Given the description of an element on the screen output the (x, y) to click on. 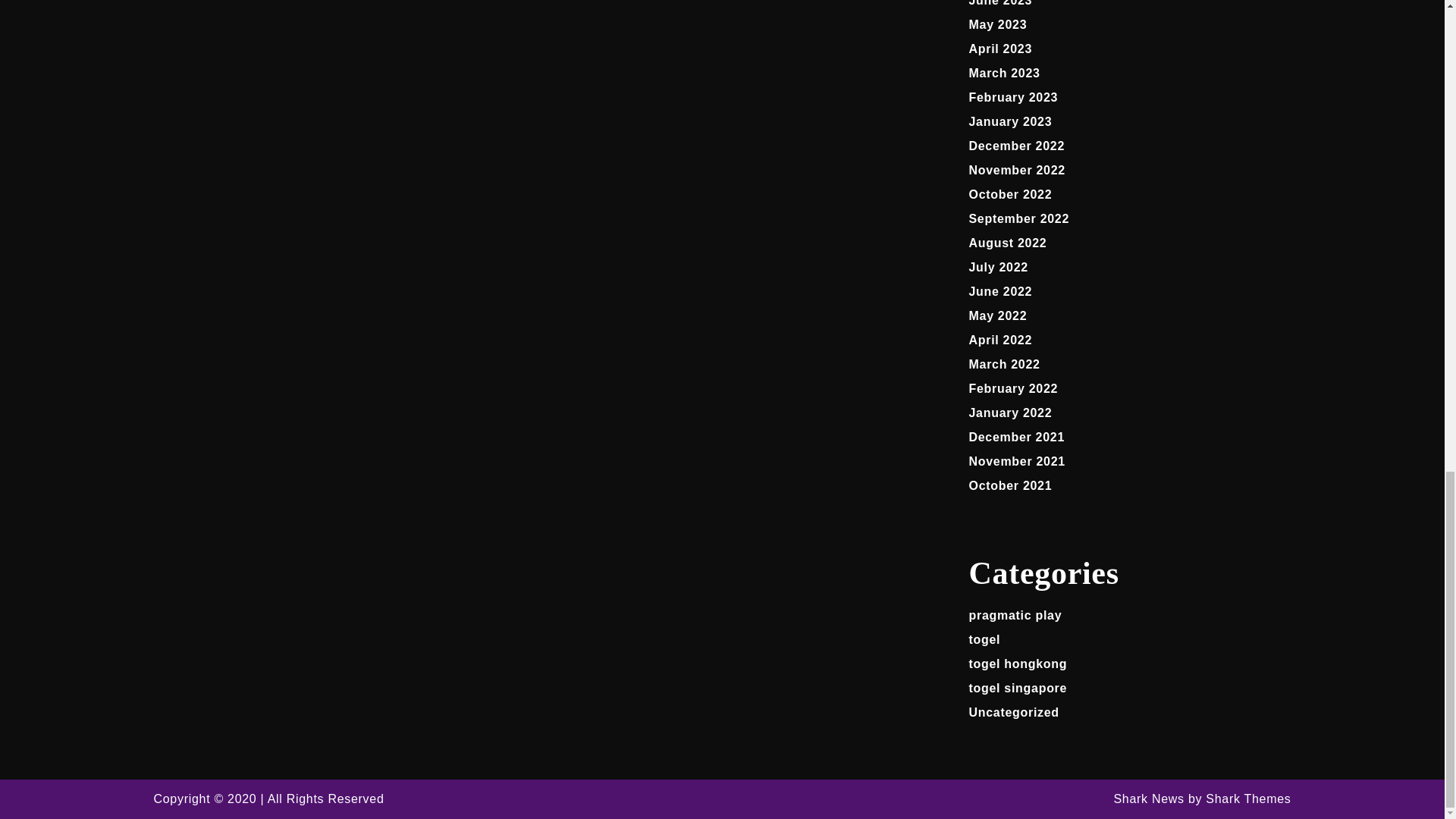
April 2023 (1000, 48)
June 2023 (1000, 3)
March 2023 (1005, 72)
January 2023 (1010, 121)
February 2023 (1013, 97)
May 2023 (998, 24)
